Given the description of an element on the screen output the (x, y) to click on. 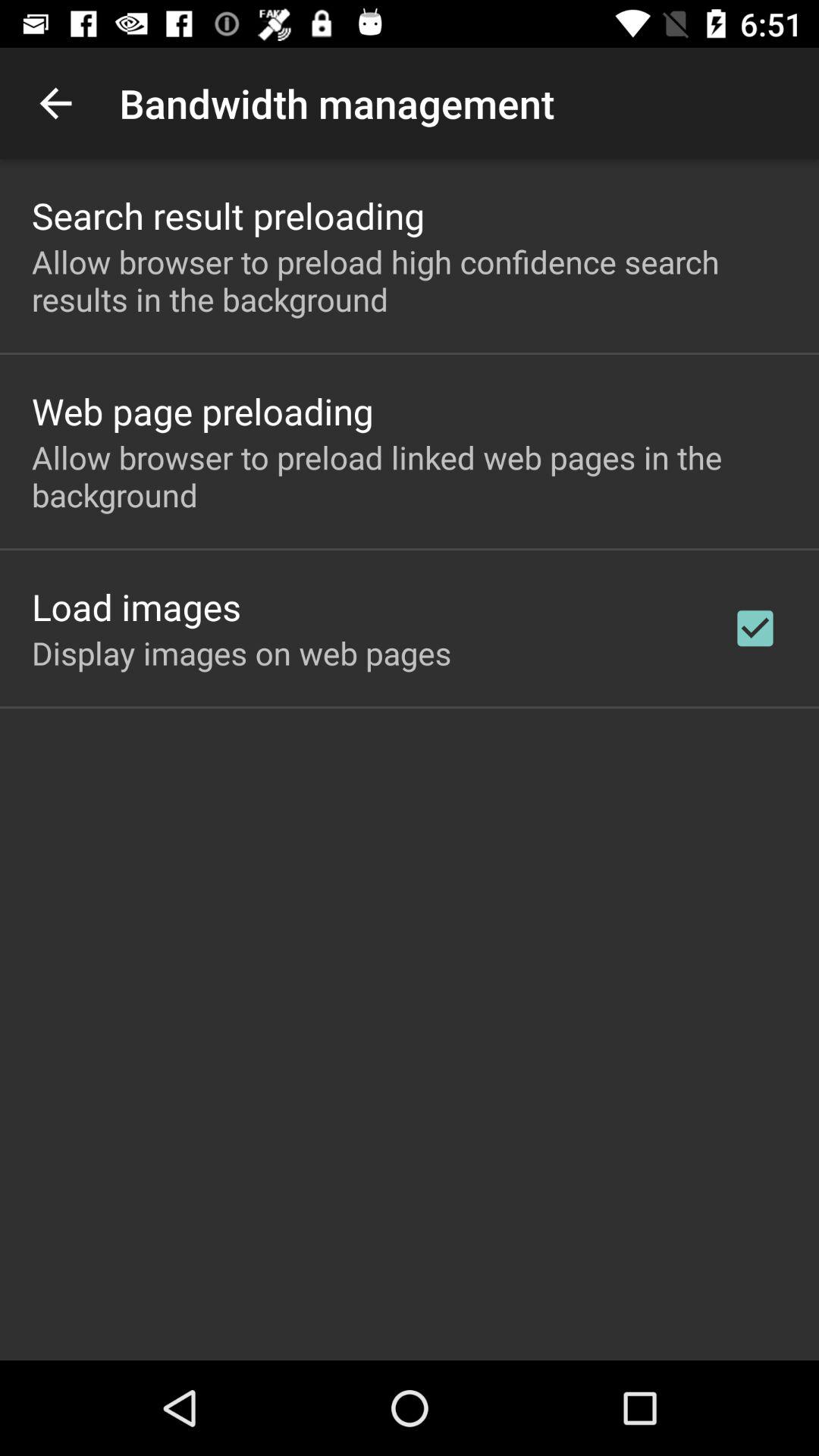
turn on the checkbox on the right (755, 628)
